Given the description of an element on the screen output the (x, y) to click on. 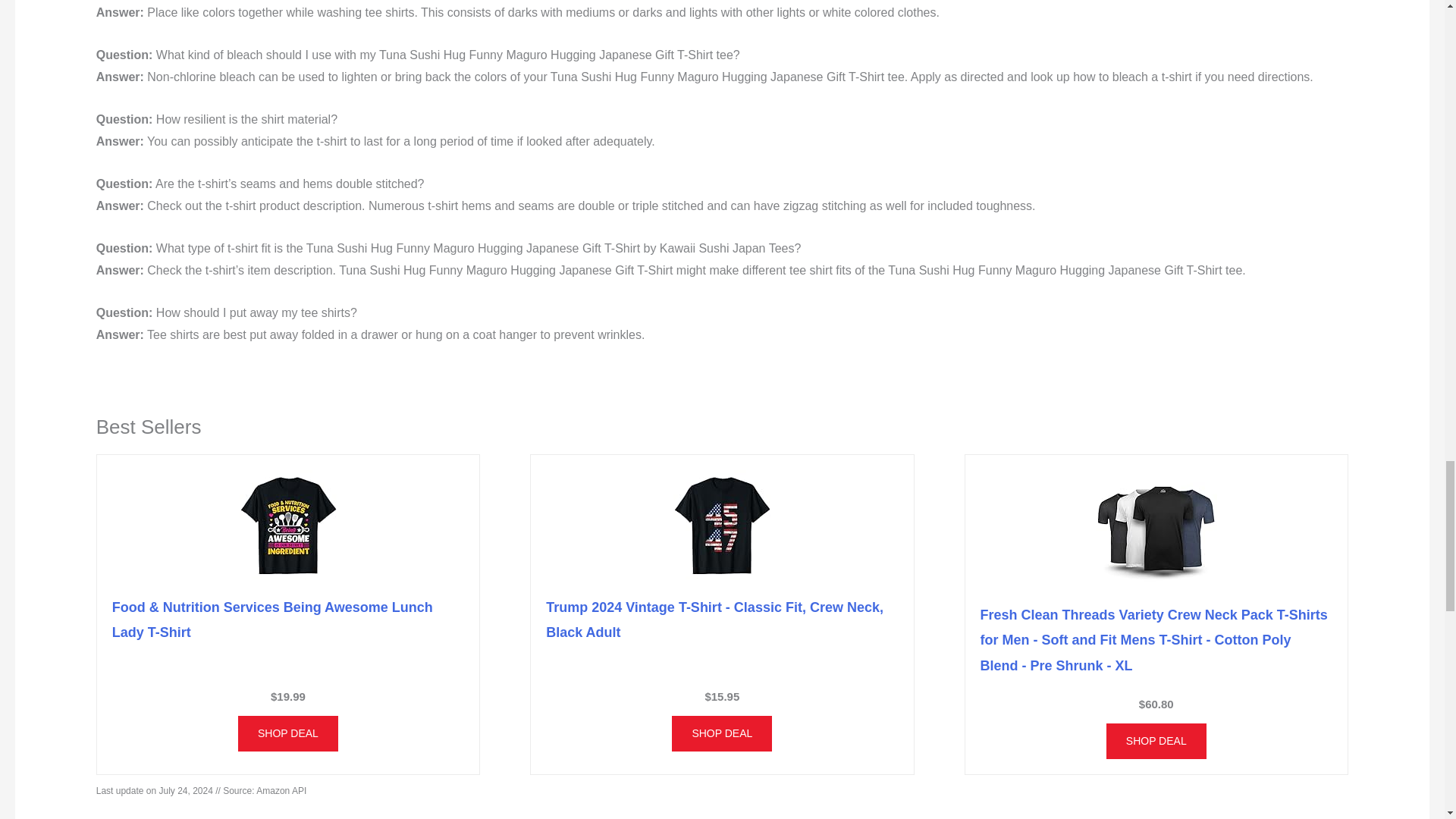
SHOP DEAL (287, 733)
